Given the description of an element on the screen output the (x, y) to click on. 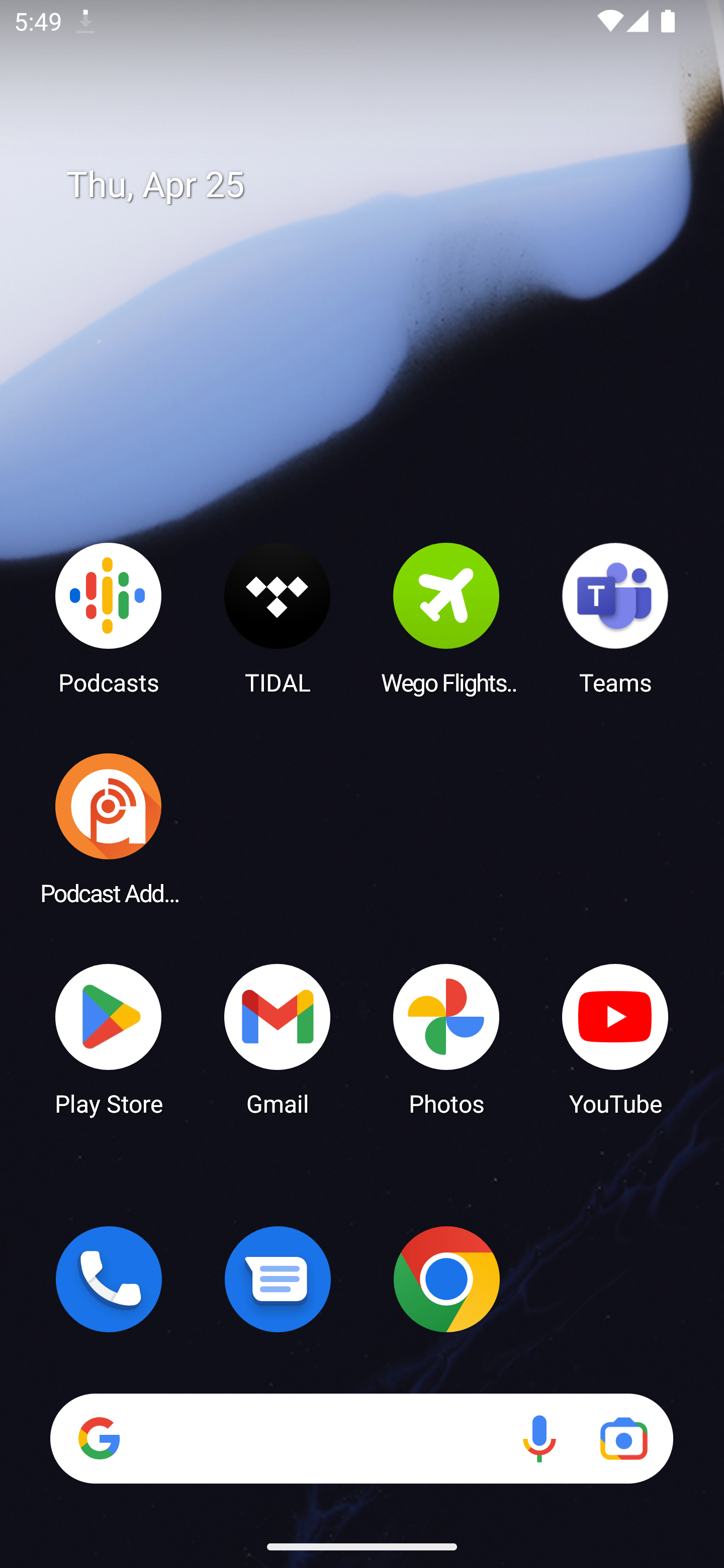
Thu, Apr 25 (375, 184)
Podcasts (108, 617)
TIDAL (277, 617)
Wego Flights & Hotels (445, 617)
Teams (615, 617)
Podcast Addict (108, 828)
Play Store (108, 1038)
Gmail (277, 1038)
Photos (445, 1038)
YouTube (615, 1038)
Phone (108, 1279)
Messages (277, 1279)
Chrome (446, 1279)
Search Voice search Google Lens (361, 1438)
Voice search (539, 1438)
Google Lens (623, 1438)
